Given the description of an element on the screen output the (x, y) to click on. 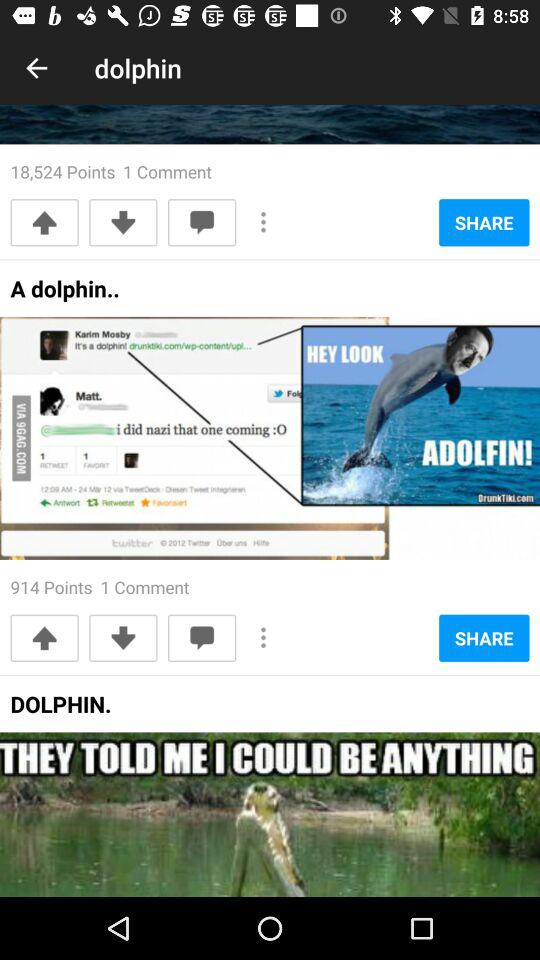
open the dolphin. (60, 710)
